Given the description of an element on the screen output the (x, y) to click on. 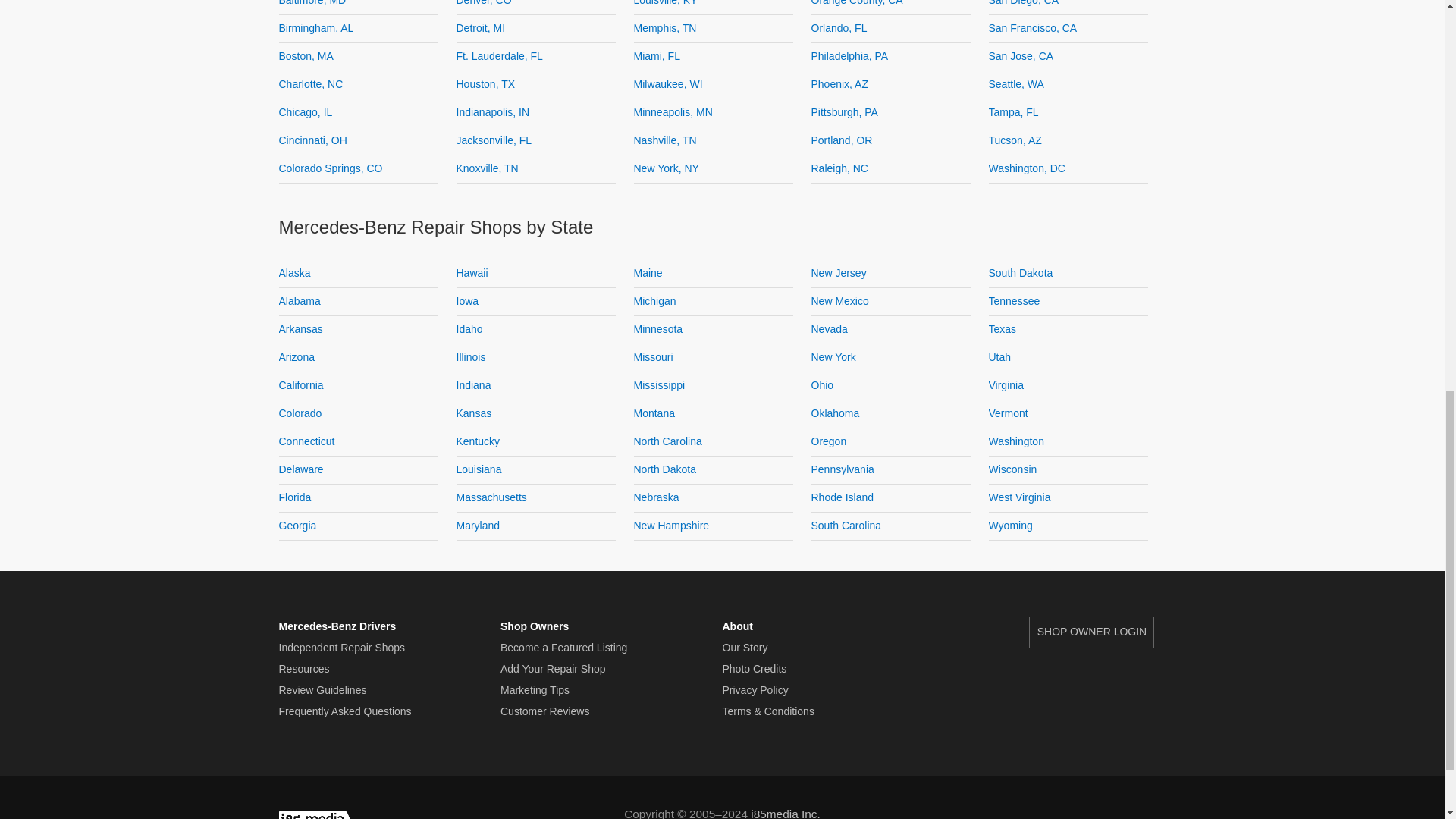
Jacksonville, FL (494, 140)
Houston, TX (486, 83)
Denver, CO (484, 2)
Charlotte, NC (311, 83)
Cincinnati, OH (313, 140)
Milwaukee, WI (668, 83)
Birmingham, AL (316, 28)
BenzShops US (1136, 809)
Colorado Springs, CO (330, 168)
Indianapolis, IN (493, 111)
